Given the description of an element on the screen output the (x, y) to click on. 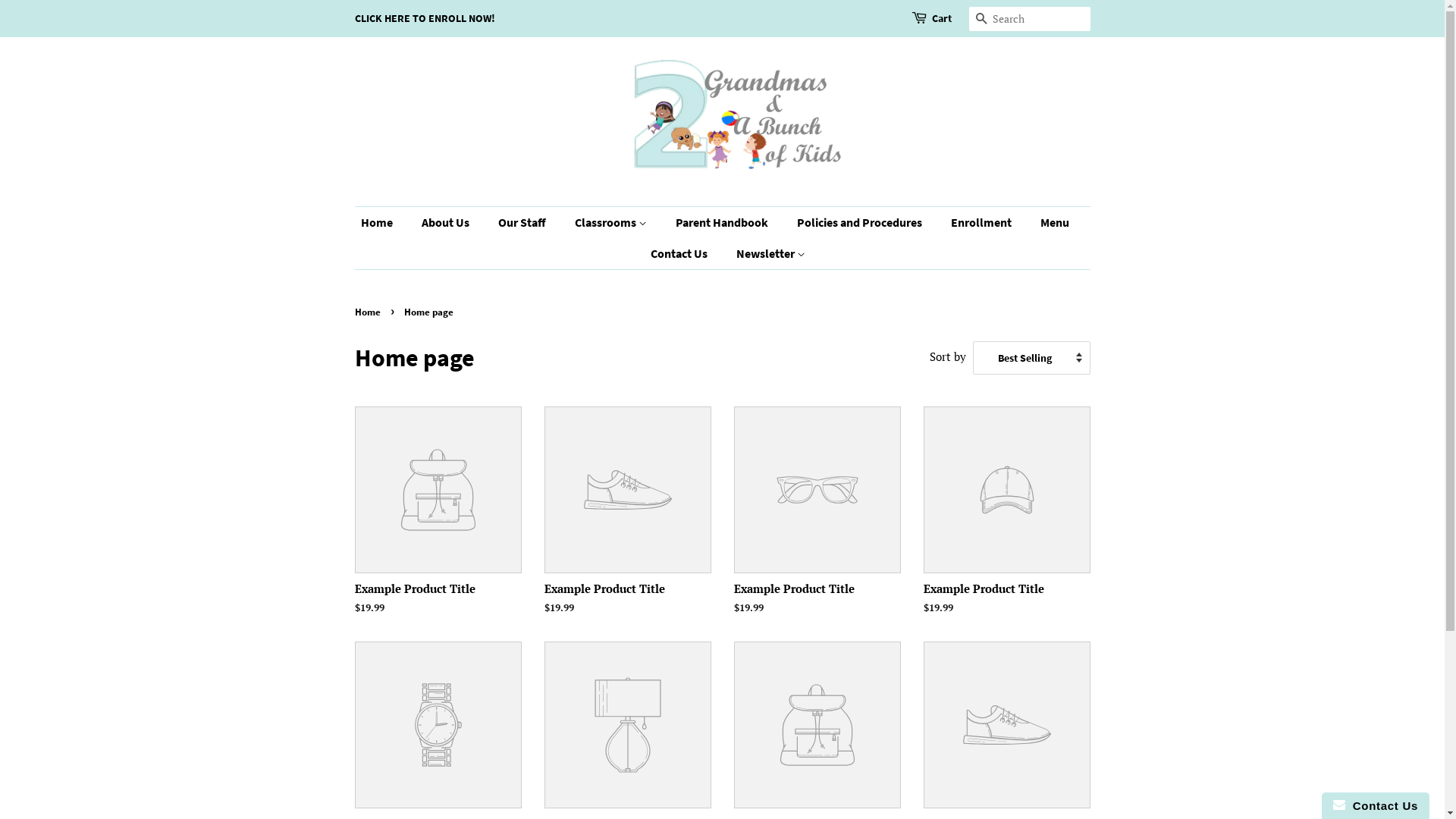
Classrooms Element type: text (611, 222)
Cart Element type: text (940, 18)
Our Staff Element type: text (523, 222)
Home Element type: text (369, 311)
Example Product Title
$19.99 Element type: text (437, 524)
Menu Element type: text (1055, 222)
Newsletter Element type: text (764, 253)
Home Element type: text (383, 222)
Example Product Title
$19.99 Element type: text (817, 524)
Example Product Title
$19.99 Element type: text (627, 524)
Contact Us Element type: text (680, 253)
Parent Handbook Element type: text (723, 222)
About Us Element type: text (446, 222)
Enrollment Element type: text (982, 222)
CLICK HERE TO ENROLL NOW! Element type: text (424, 18)
Example Product Title
$19.99 Element type: text (1006, 524)
Policies and Procedures Element type: text (861, 222)
Search Element type: text (981, 18)
